Given the description of an element on the screen output the (x, y) to click on. 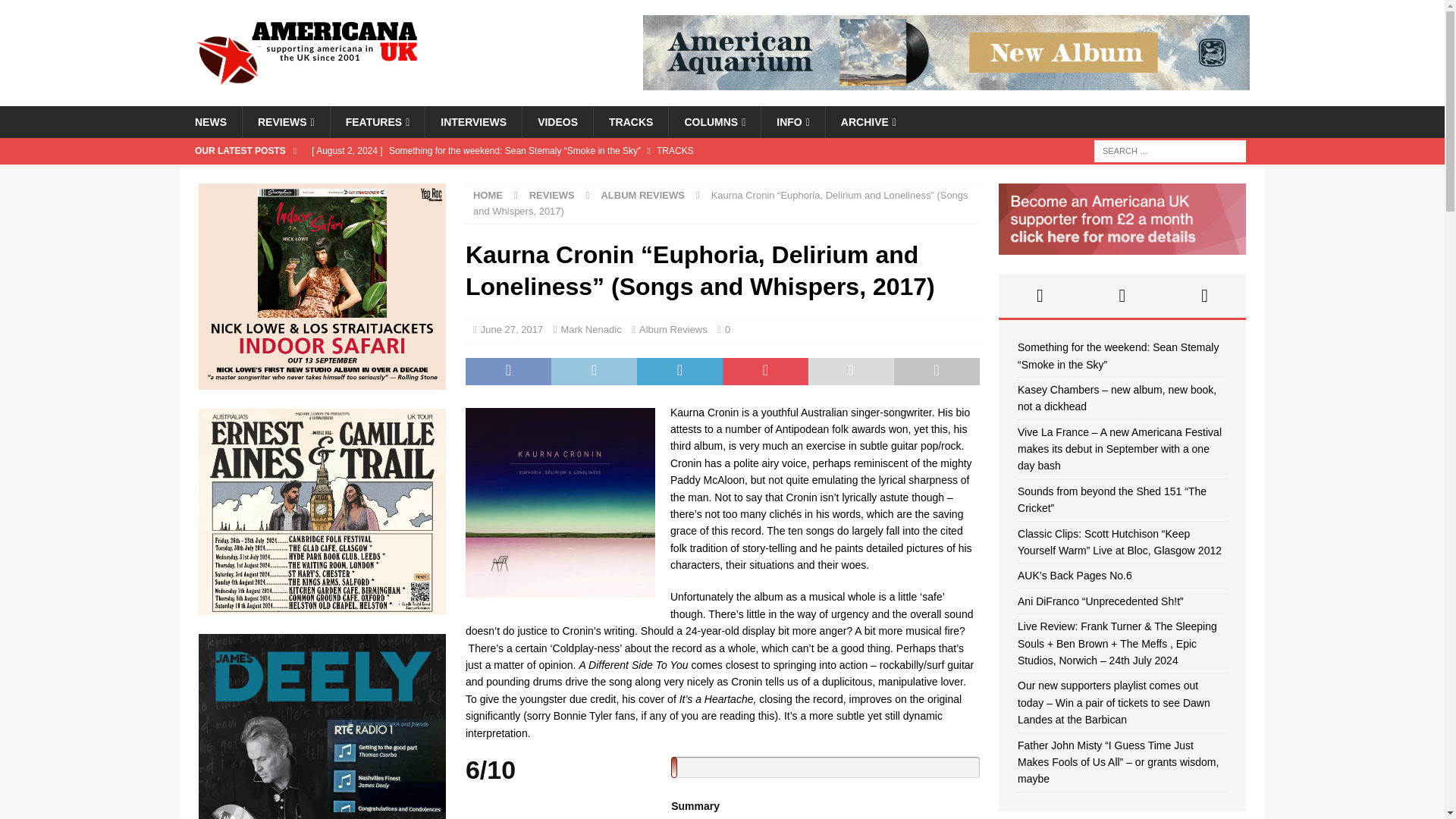
REVIEWS (285, 122)
NEWS (210, 122)
FEATURES (377, 122)
ARCHIVE (868, 122)
TRACKS (630, 122)
VIDEOS (556, 122)
COLUMNS (714, 122)
INFO (792, 122)
INTERVIEWS (473, 122)
